Given the description of an element on the screen output the (x, y) to click on. 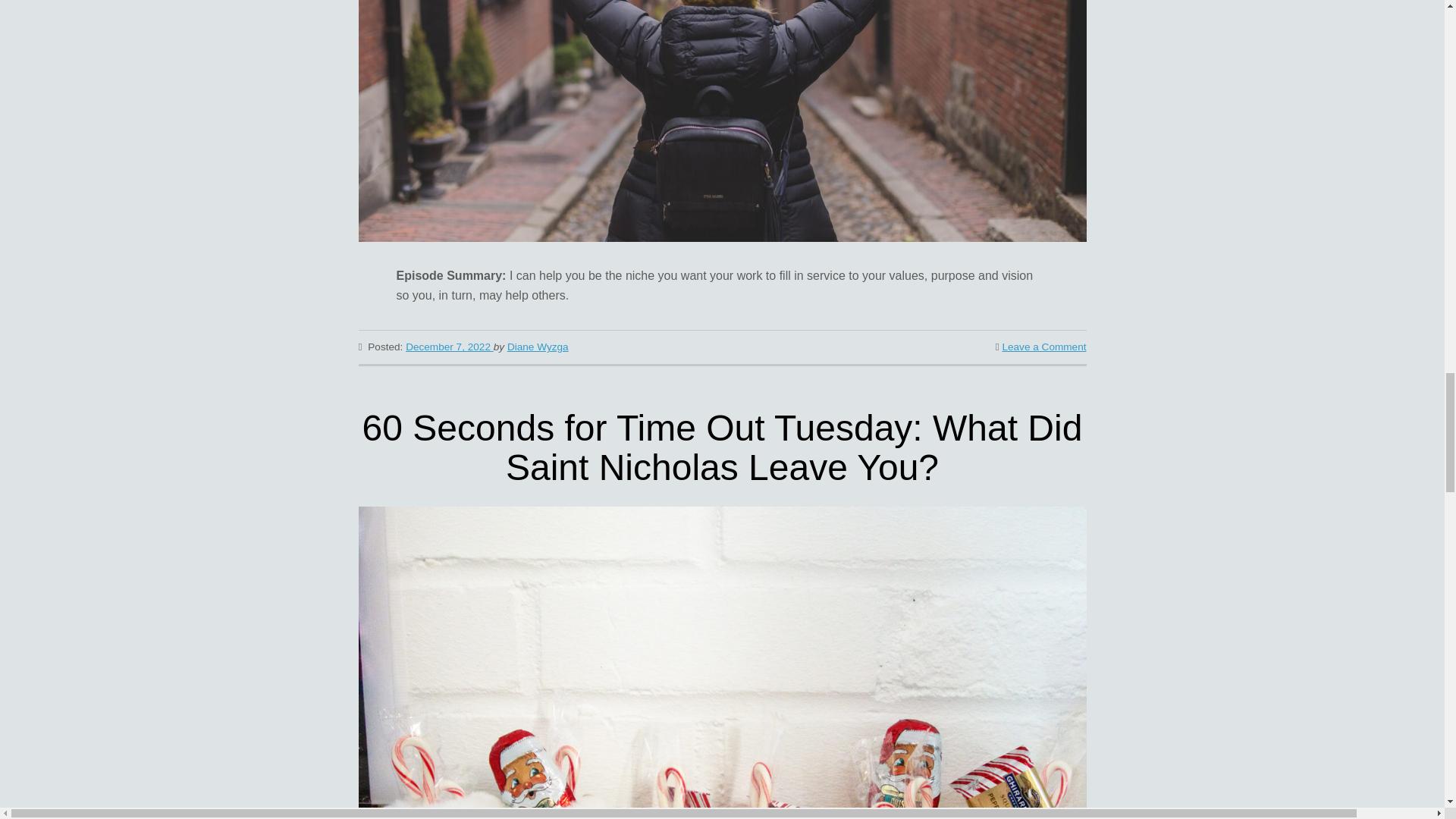
Leave a Comment (1043, 346)
Posts by Diane Wyzga (537, 346)
12:19 pm (449, 346)
December 7, 2022 (449, 346)
Diane Wyzga (537, 346)
